Given the description of an element on the screen output the (x, y) to click on. 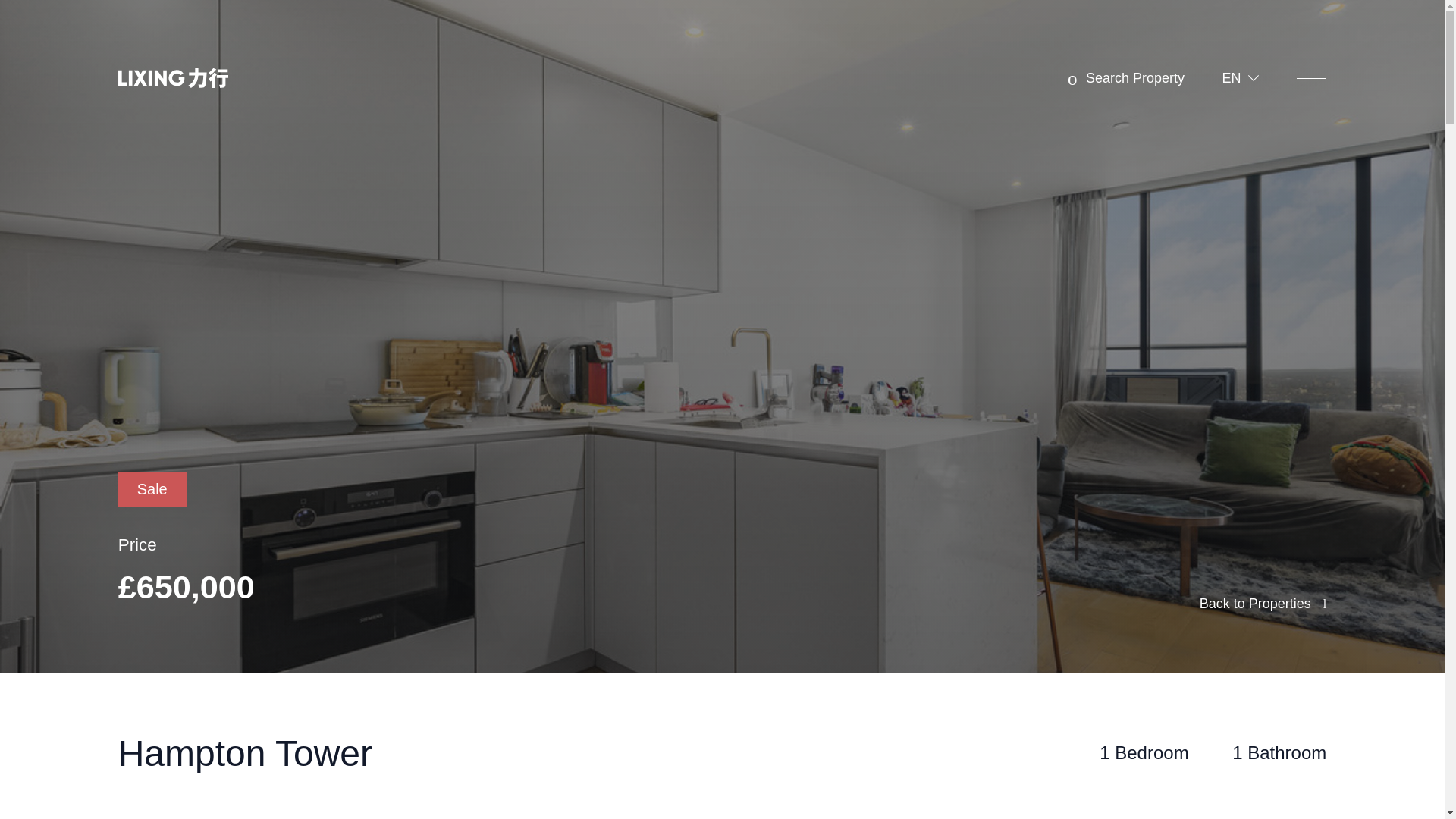
EN (1241, 77)
Back to Properties (1262, 603)
EN (1241, 77)
